Given the description of an element on the screen output the (x, y) to click on. 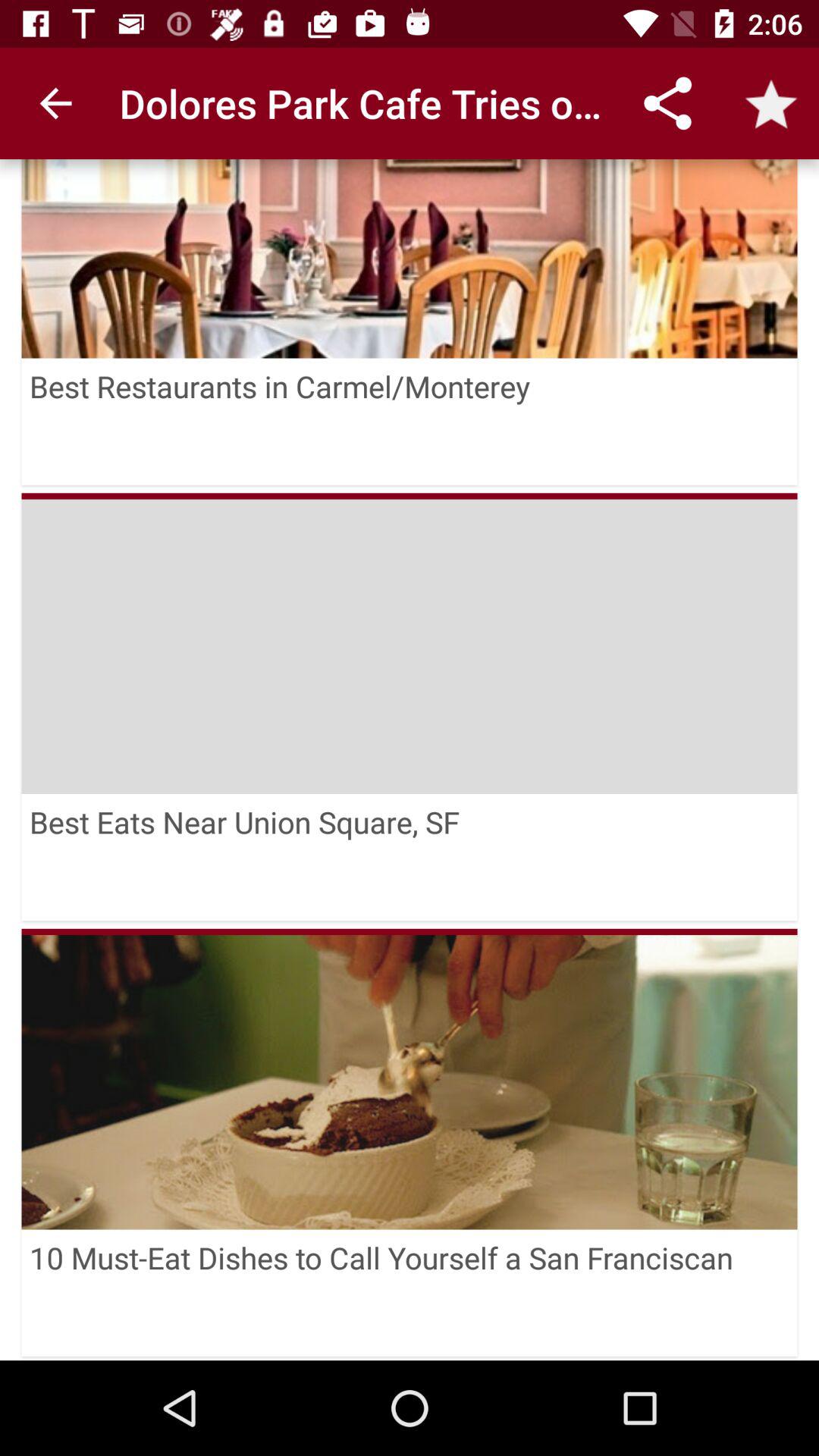
turn on the best restaurants in (409, 421)
